Given the description of an element on the screen output the (x, y) to click on. 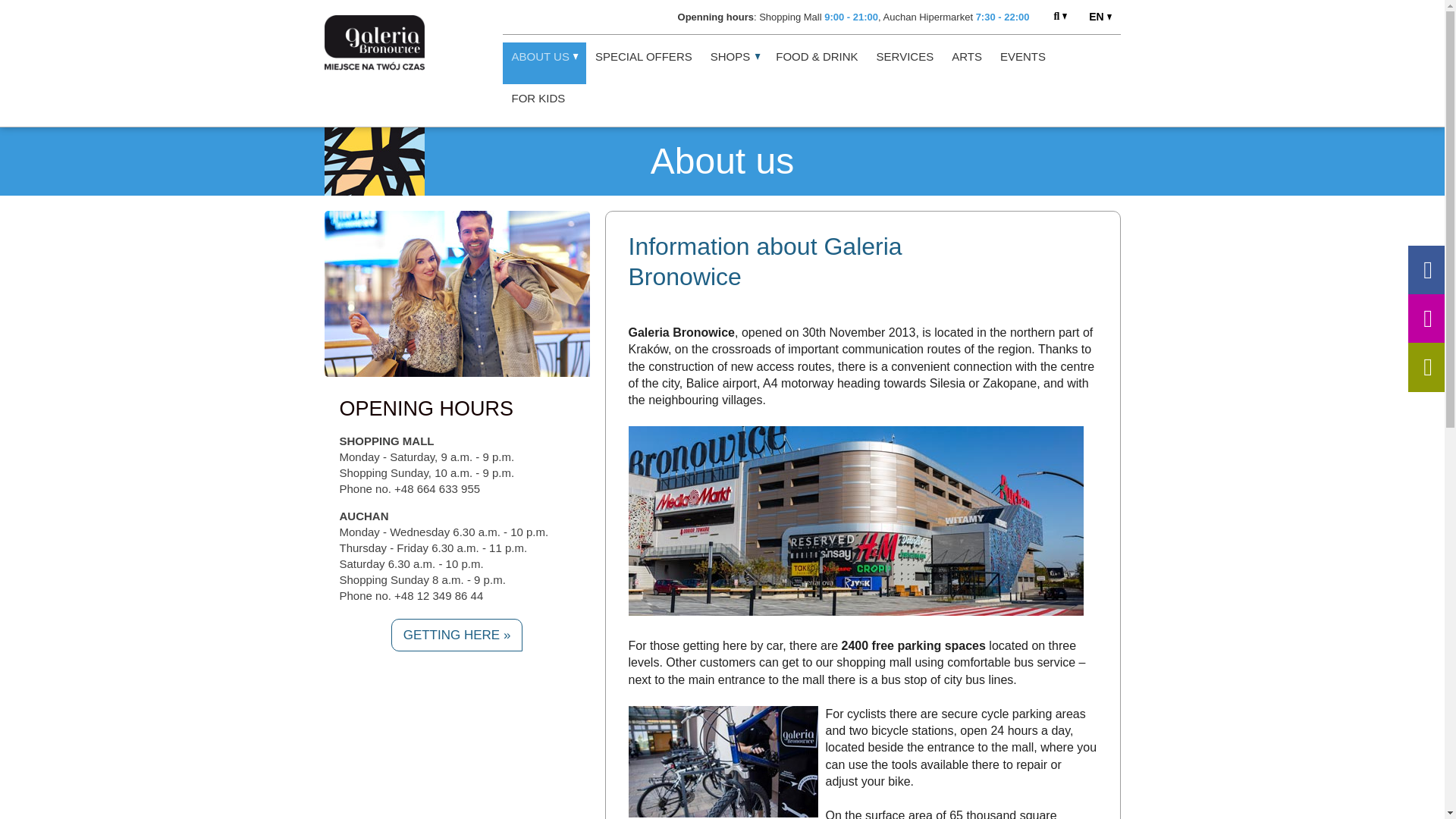
SPECIAL OFFERS (643, 63)
EN (1099, 14)
ABOUT US (543, 63)
Galeria Bronowice (721, 761)
SHOPS (734, 63)
